Given the description of an element on the screen output the (x, y) to click on. 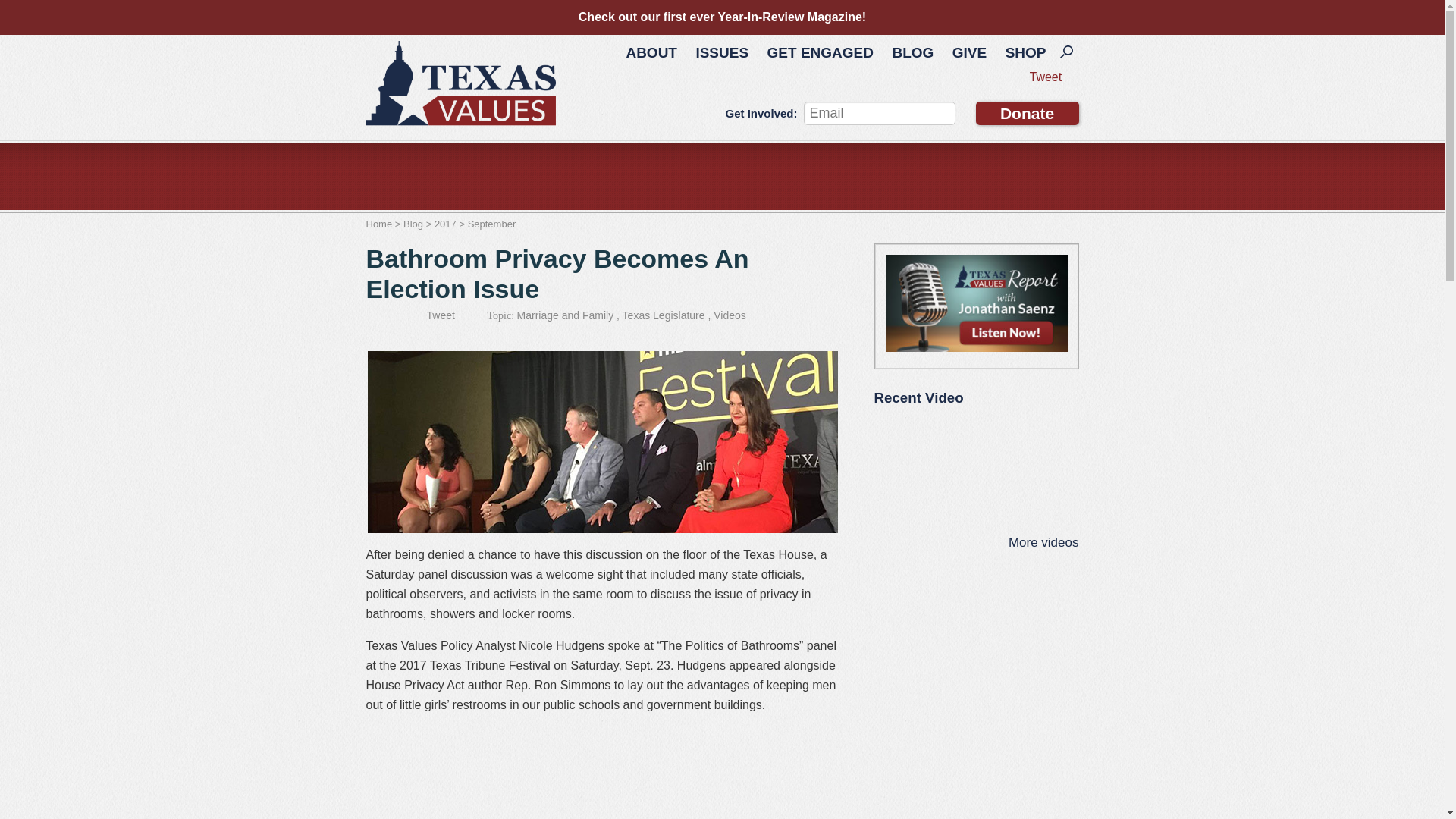
GET ENGAGED (820, 51)
Check out our first ever Year-In-Review Magazine! (722, 16)
View all posts in Videos (729, 315)
View all posts in Texas Legislature (663, 315)
ISSUES (721, 51)
View all posts in Marriage and Family (565, 315)
ABOUT (650, 51)
